Given the description of an element on the screen output the (x, y) to click on. 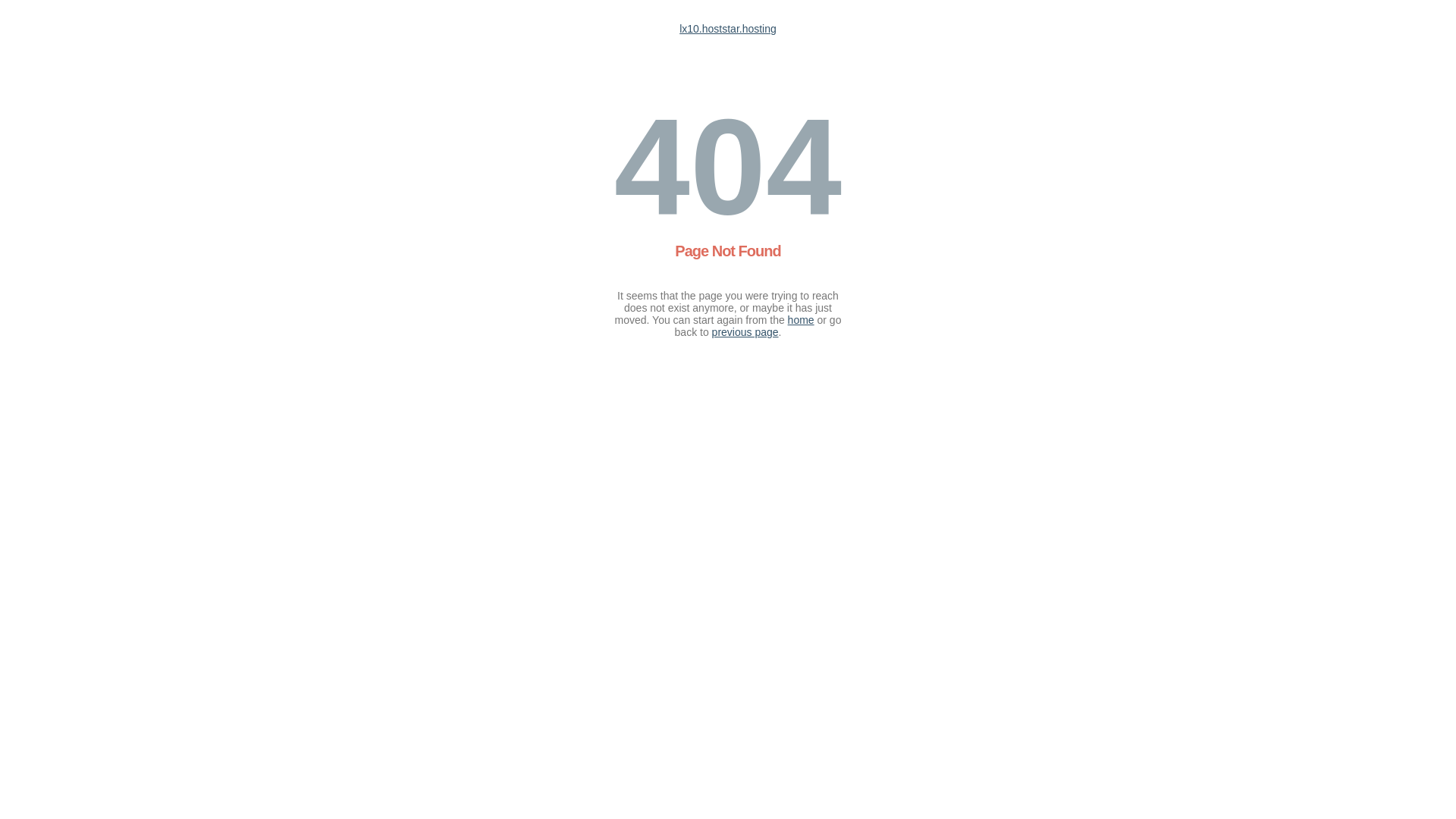
home Element type: text (800, 319)
previous page Element type: text (745, 332)
lx10.hoststar.hosting Element type: text (727, 28)
